Given the description of an element on the screen output the (x, y) to click on. 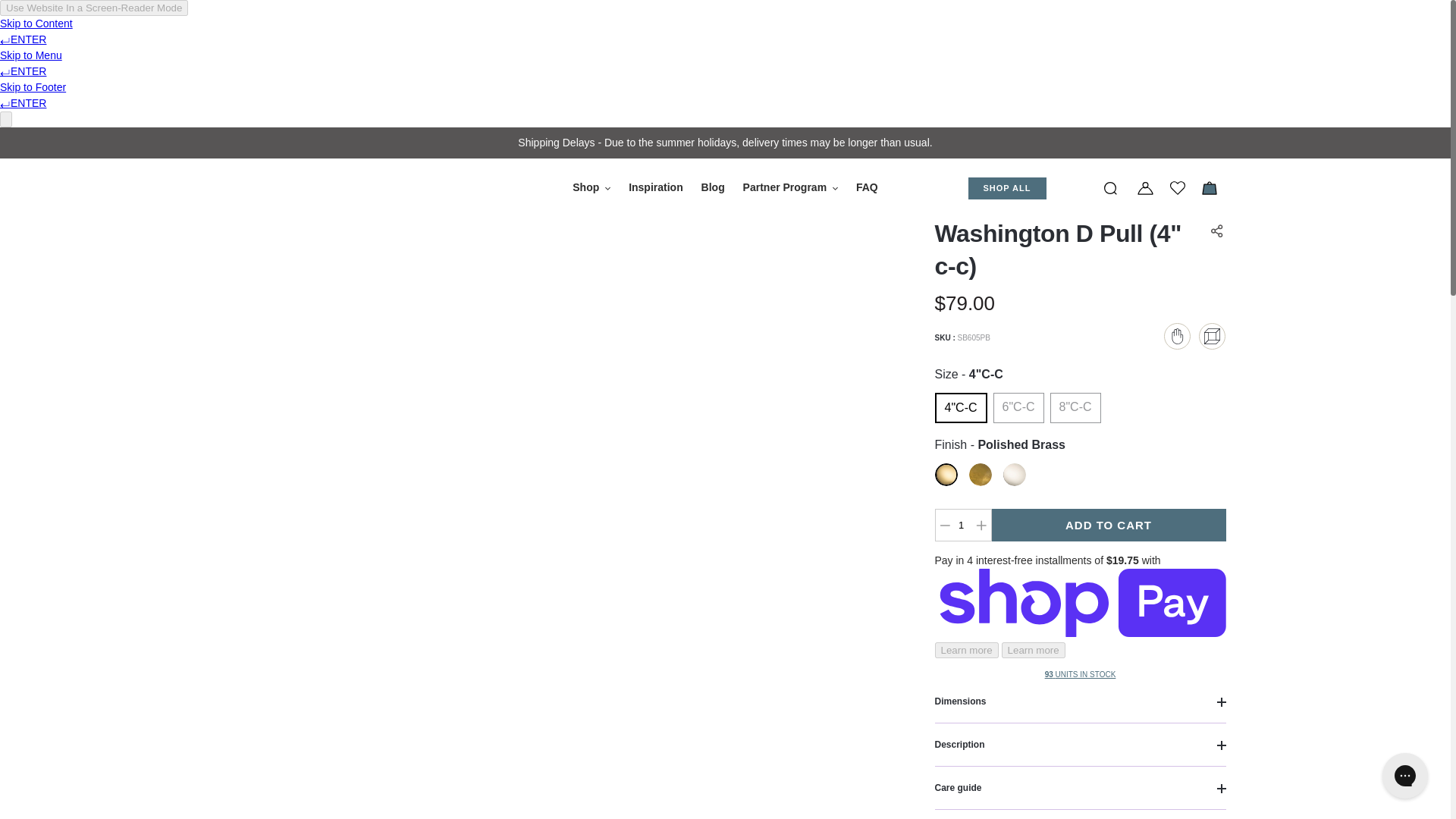
Shop (590, 187)
1 (961, 524)
Modern Matter (285, 187)
Gorgias live chat messenger (1404, 775)
